Given the description of an element on the screen output the (x, y) to click on. 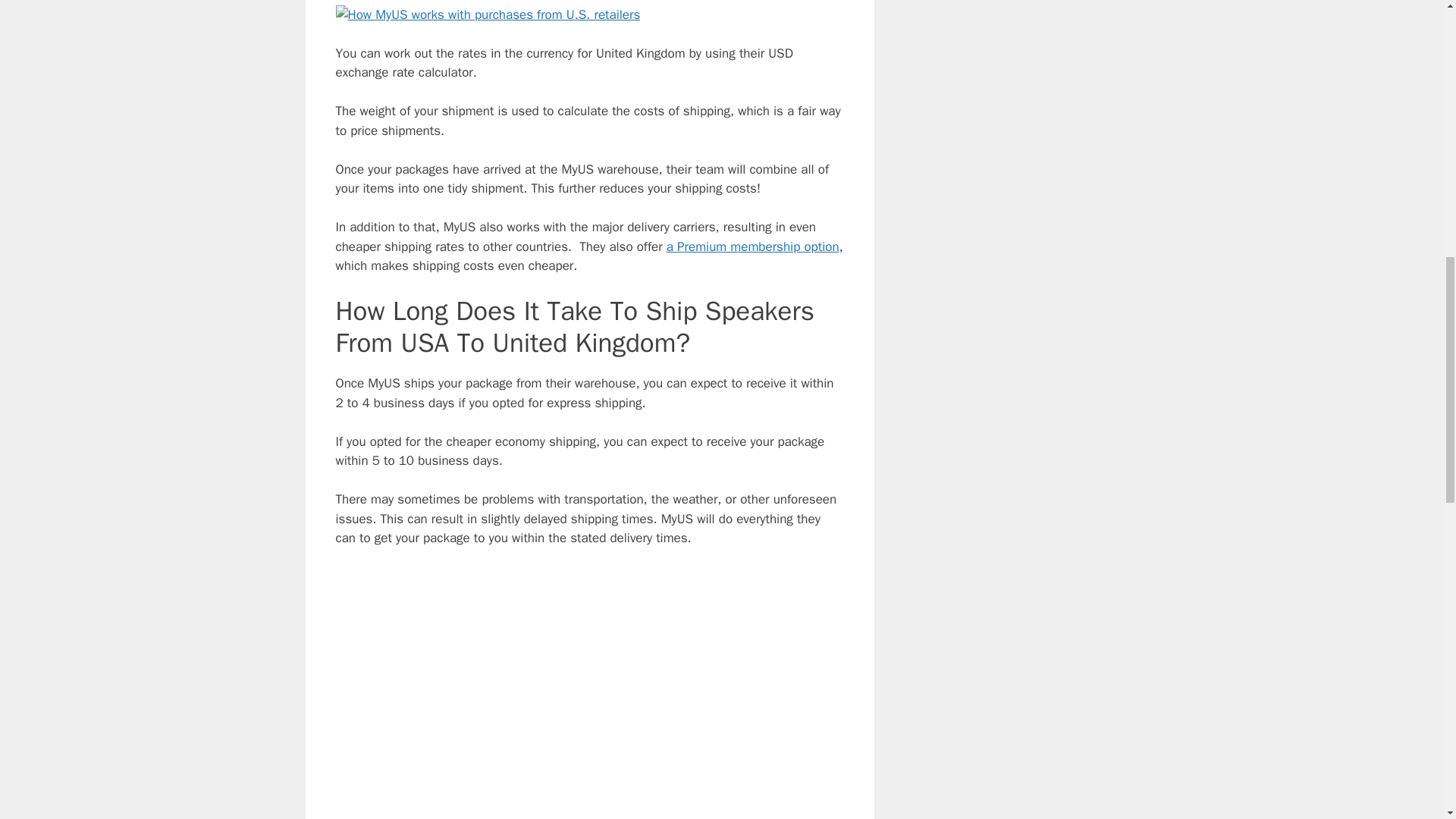
a Premium membership option (753, 246)
MyUS.com: How it Works (588, 693)
